Given the description of an element on the screen output the (x, y) to click on. 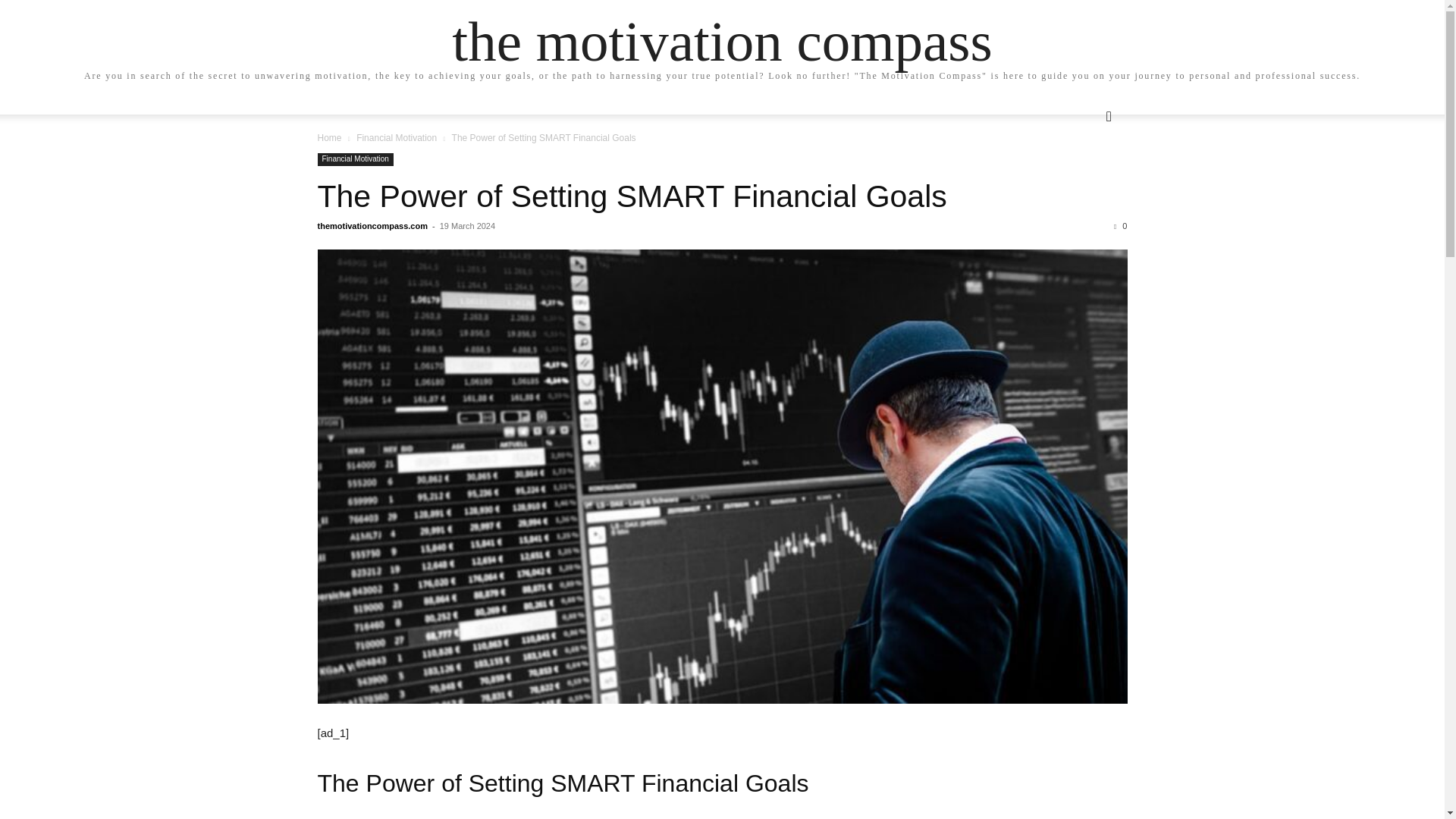
View all posts in Financial Motivation (396, 137)
The Power of Setting SMART Financial Goals (631, 196)
Search (1085, 177)
Financial Motivation (355, 159)
The Power of Setting SMART Financial Goals (631, 196)
0 (1119, 225)
themotivationcompass.com (371, 225)
Home (328, 137)
the motivation compass (721, 41)
Financial Motivation (396, 137)
